Given the description of an element on the screen output the (x, y) to click on. 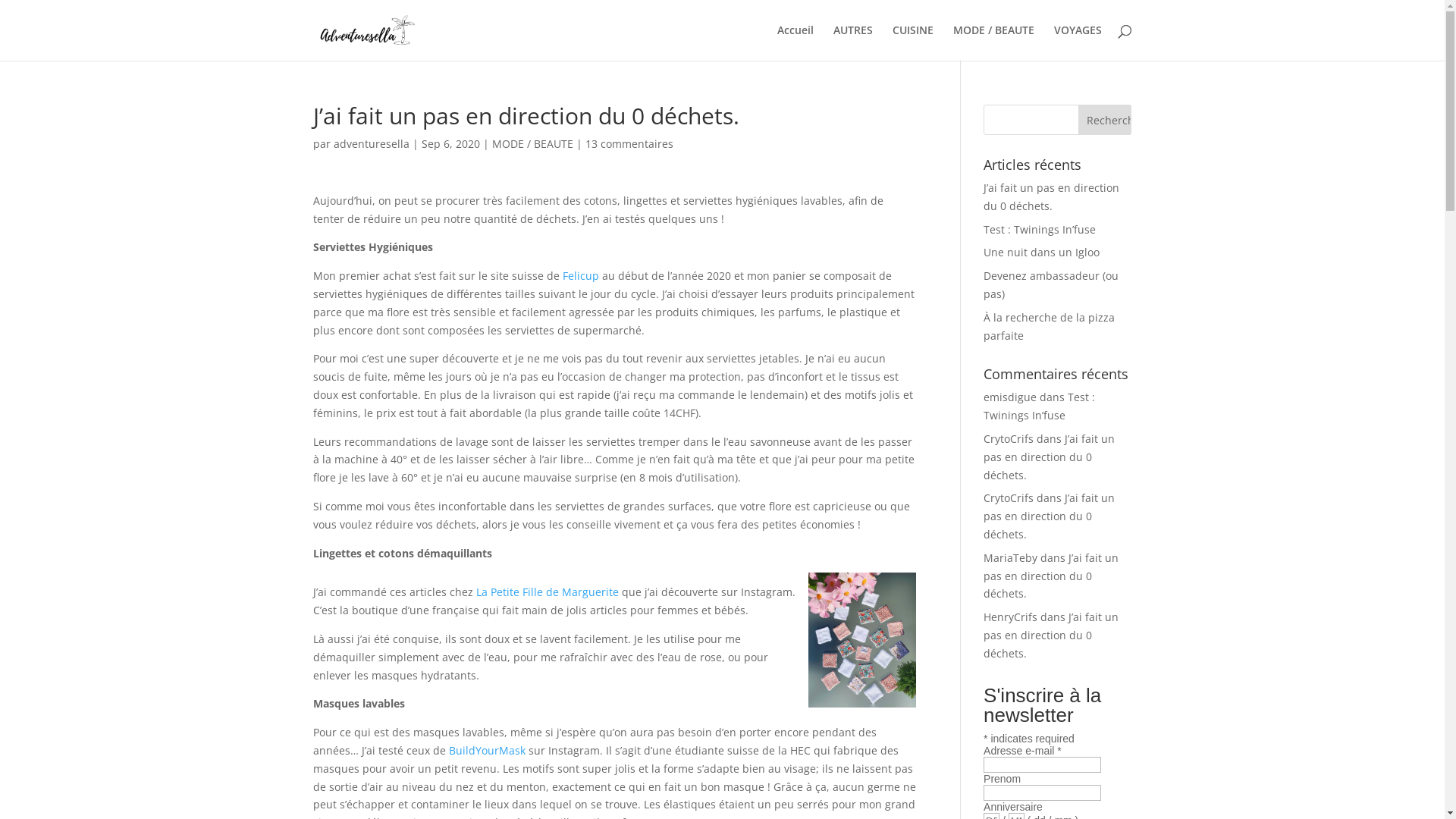
La Petite Fille de Marguerite Element type: text (547, 591)
Devenez ambassadeur (ou pas) Element type: text (1050, 284)
adventuresella Element type: text (371, 143)
Accueil Element type: text (794, 42)
VOYAGES Element type: text (1077, 42)
MariaTeby Element type: text (1010, 557)
CrytoCrifs Element type: text (1008, 497)
Rechercher Element type: text (1104, 119)
MODE / BEAUTE Element type: text (531, 143)
emisdigue Element type: text (1009, 396)
Une nuit dans un Igloo Element type: text (1041, 251)
Felicup Element type: text (580, 275)
CrytoCrifs Element type: text (1008, 438)
13 commentaires Element type: text (629, 143)
MODE / BEAUTE Element type: text (992, 42)
HenryCrifs Element type: text (1010, 616)
CUISINE Element type: text (911, 42)
AUTRES Element type: text (852, 42)
BuildYourMask Element type: text (486, 750)
